Given the description of an element on the screen output the (x, y) to click on. 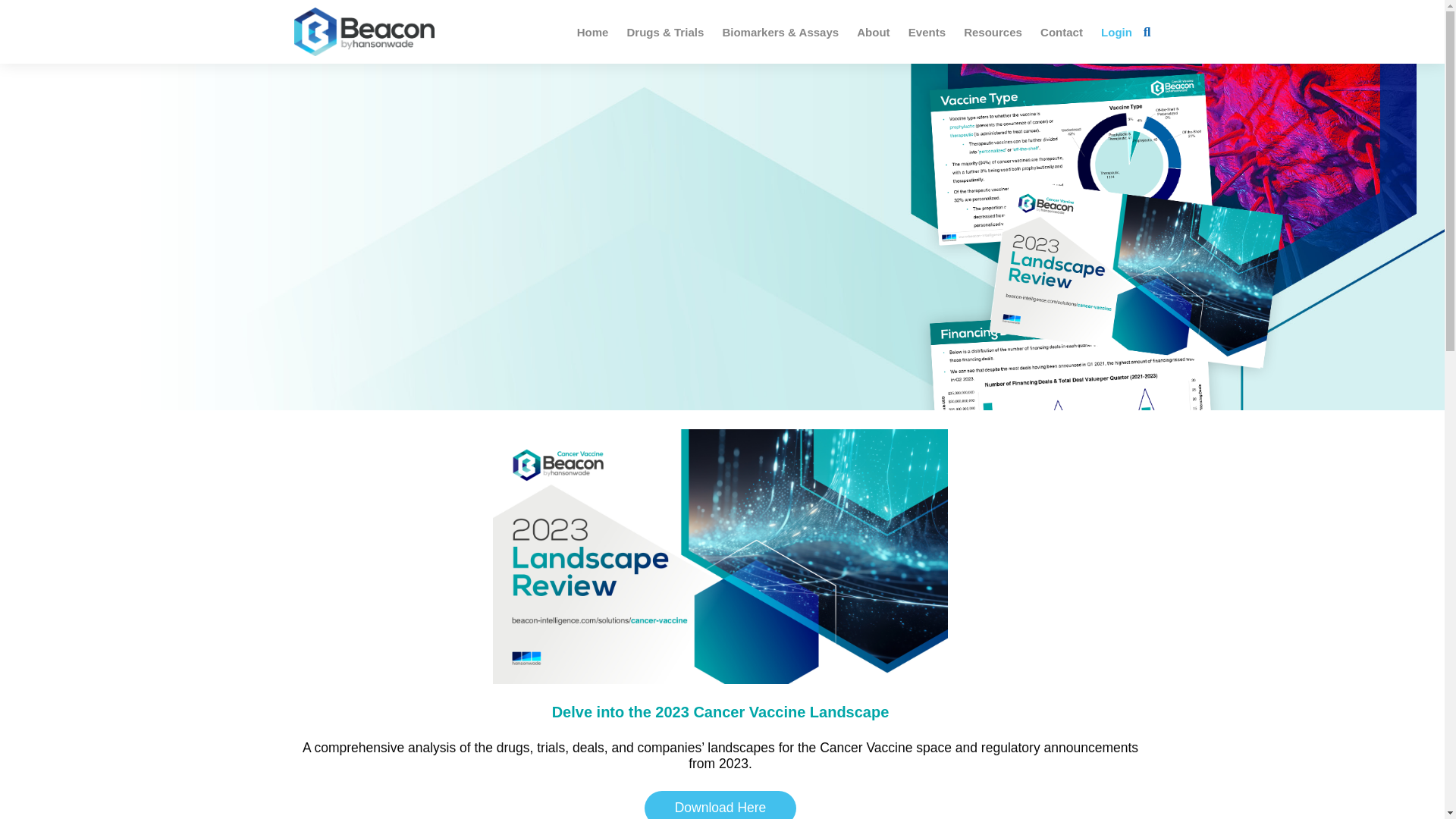
Login (1116, 32)
Contact (1061, 32)
Resources (992, 32)
Home (592, 32)
Download Here (720, 805)
About (872, 32)
Events (927, 32)
